Given the description of an element on the screen output the (x, y) to click on. 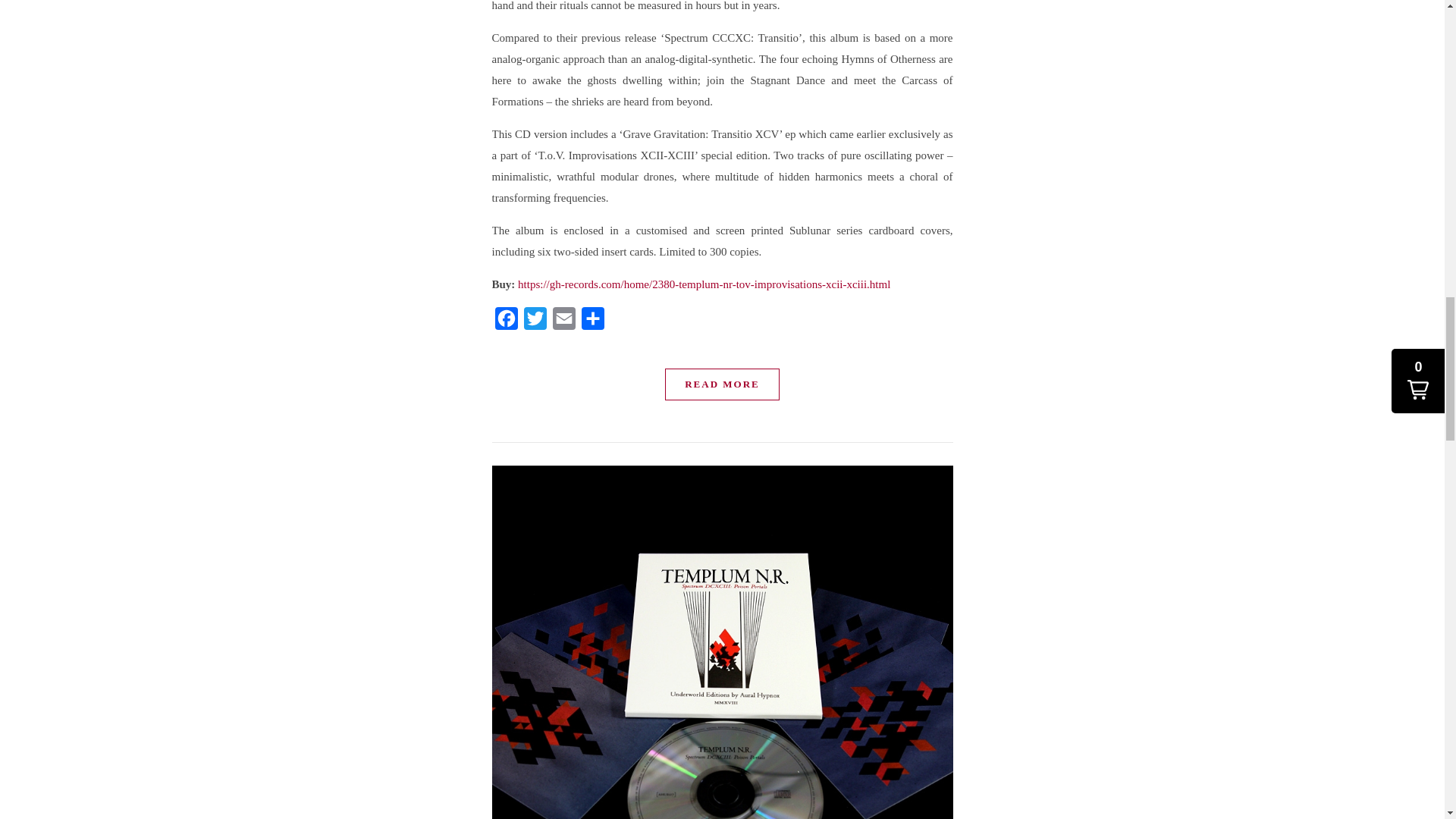
Email (563, 322)
Facebook (505, 322)
READ MORE (721, 384)
Twitter (533, 322)
Facebook (505, 322)
Email (563, 322)
Twitter (533, 322)
